Given the description of an element on the screen output the (x, y) to click on. 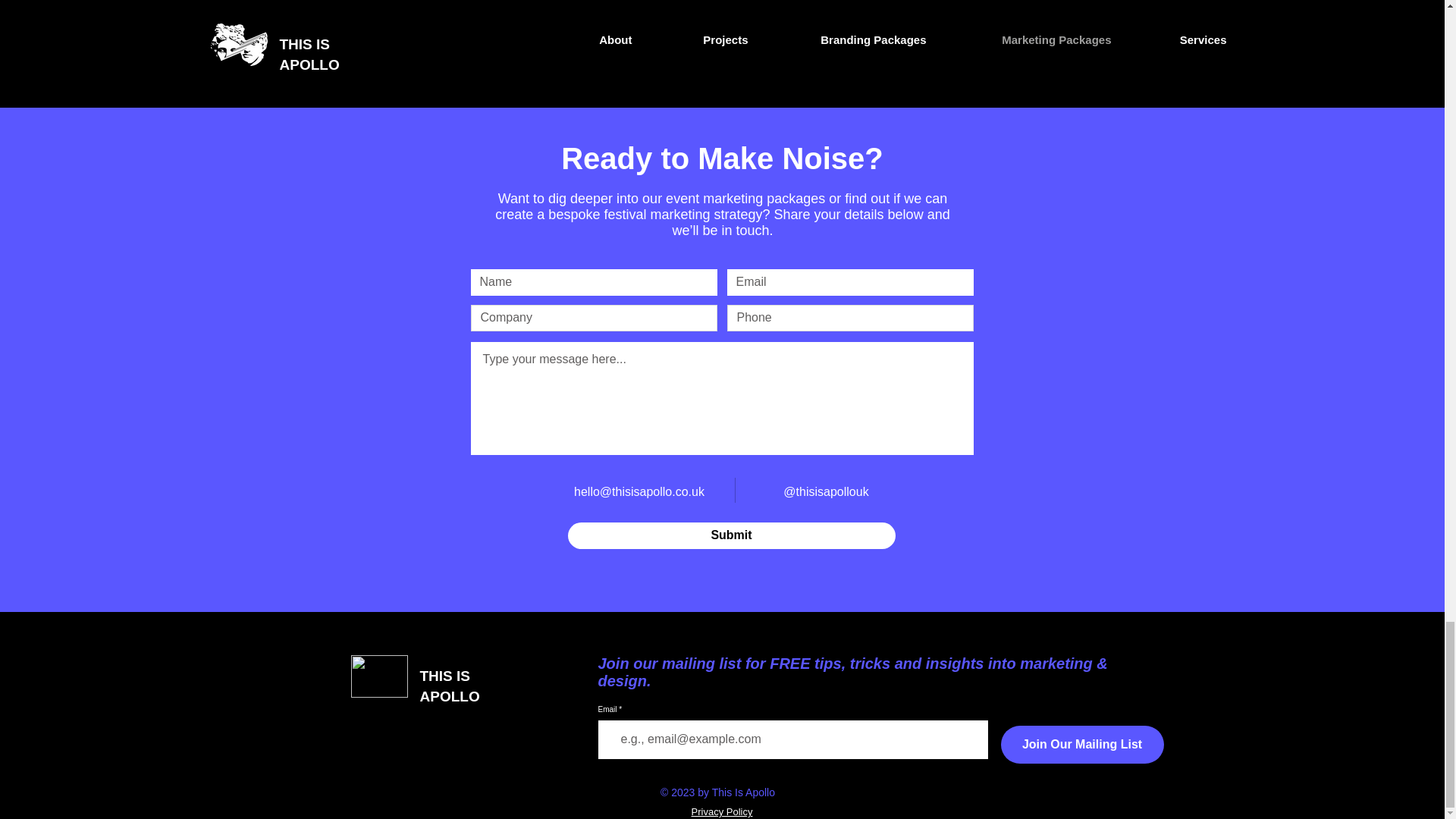
This is apollo logo.png (378, 676)
THIS IS APOLLO (450, 686)
Privacy Policy (721, 811)
Join Our Mailing List (1082, 744)
Submit (731, 535)
